Given the description of an element on the screen output the (x, y) to click on. 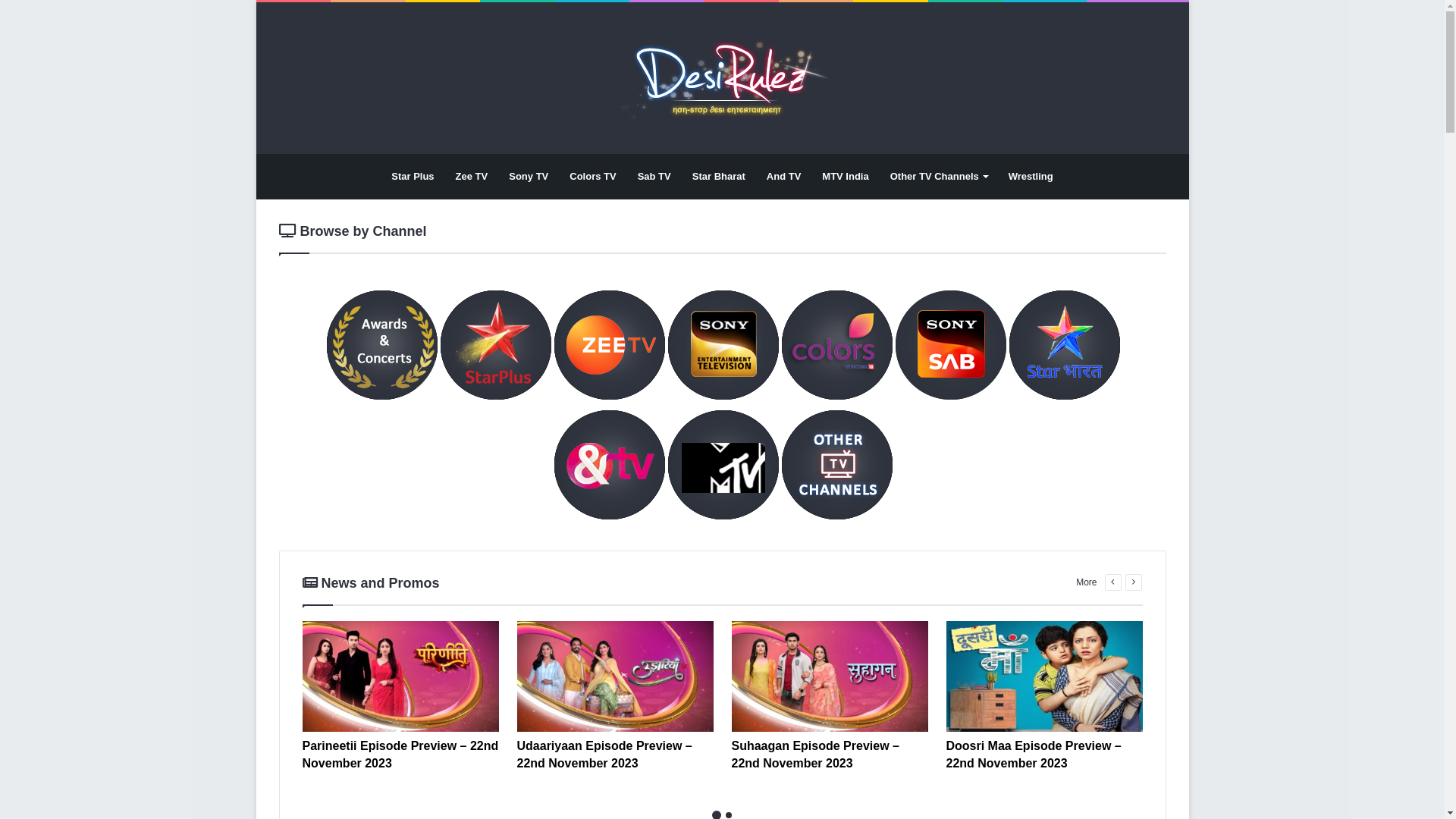
Zee TV Element type: text (471, 176)
Wrestling Element type: text (1030, 176)
1 Element type: text (714, 813)
Star Plus Element type: text (412, 176)
MTV India Element type: text (844, 176)
Star Bharat Element type: text (718, 176)
More Element type: text (1086, 582)
Sab TV Element type: text (654, 176)
2 Element type: text (727, 815)
Sony TV Element type: text (528, 176)
Other TV Channels Element type: text (938, 176)
News and Promos Element type: text (370, 582)
Colors TV Element type: text (592, 176)
DesiRulez Element type: hover (721, 77)
And TV Element type: text (784, 176)
